Given the description of an element on the screen output the (x, y) to click on. 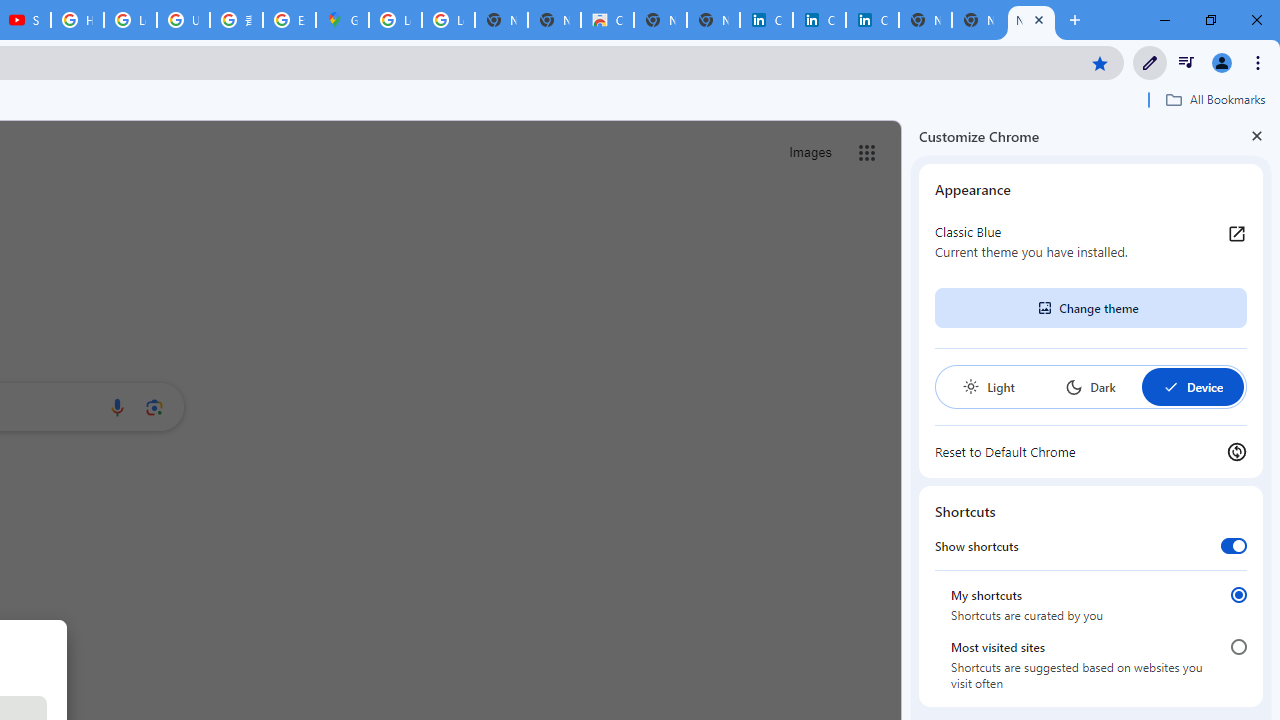
Reset to Default Chrome (1091, 452)
Control your music, videos, and more (1185, 62)
All Bookmarks (1215, 99)
My shortcuts (1238, 594)
Light (988, 386)
Most visited sites (1238, 647)
Dark (1090, 386)
Google Maps (342, 20)
